Given the description of an element on the screen output the (x, y) to click on. 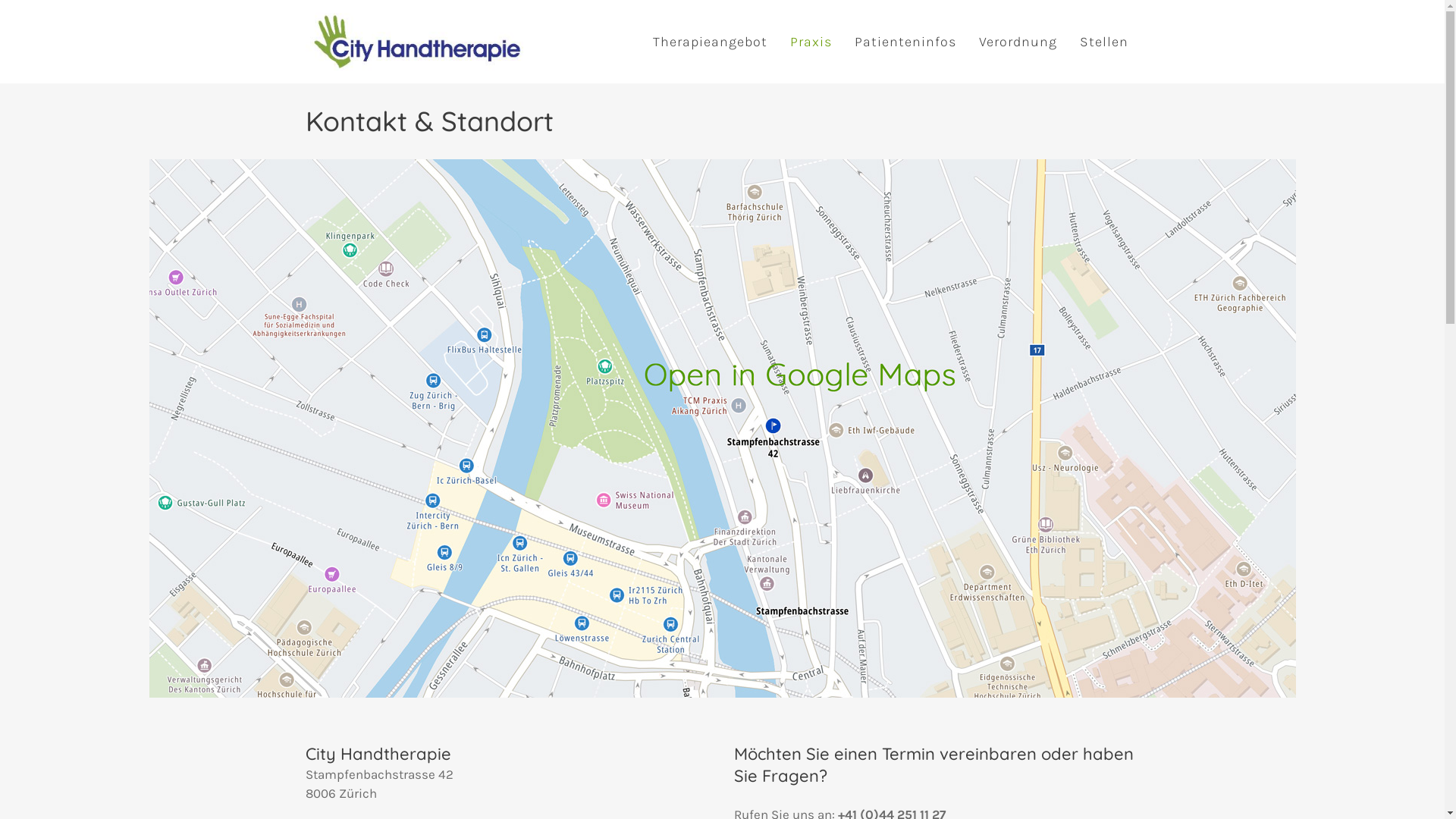
Stellen Element type: text (1103, 41)
Patienteninfos Element type: text (905, 41)
Praxis Element type: text (810, 41)
Verordnung Element type: text (1017, 41)
Therapieangebot Element type: text (709, 41)
